Given the description of an element on the screen output the (x, y) to click on. 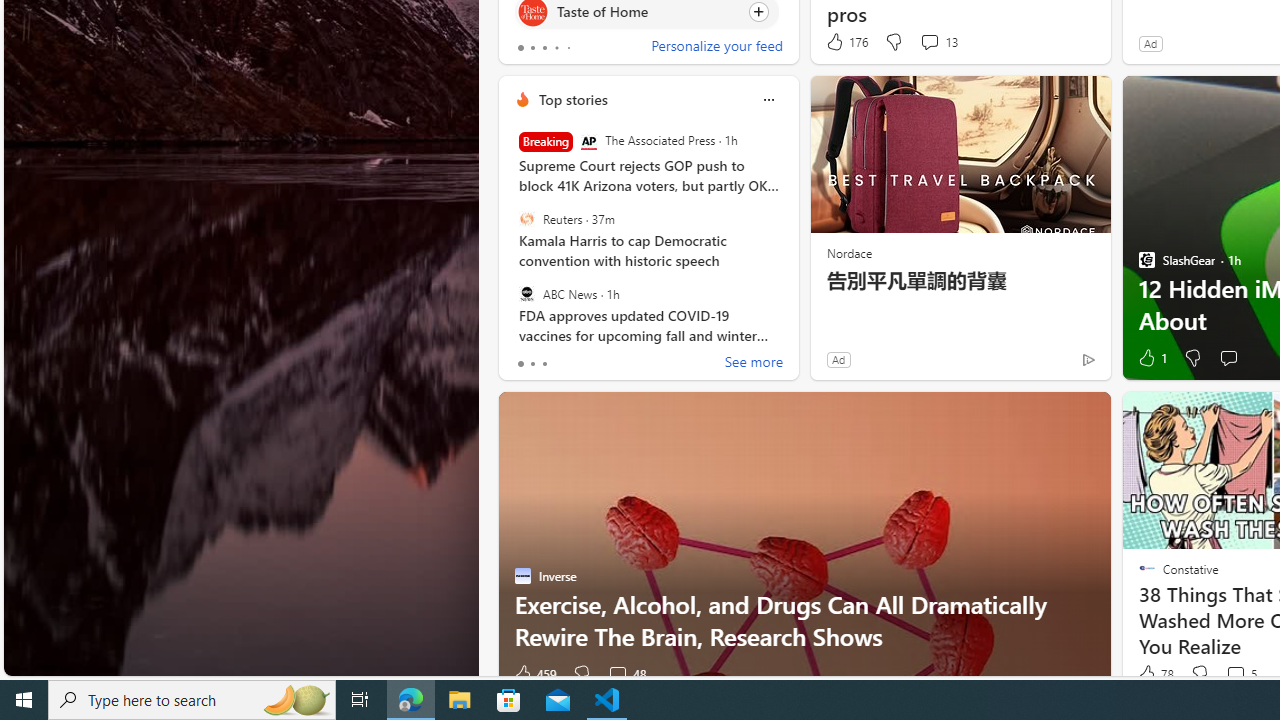
Personalize your feed (716, 47)
78 Like (1154, 674)
